Given the description of an element on the screen output the (x, y) to click on. 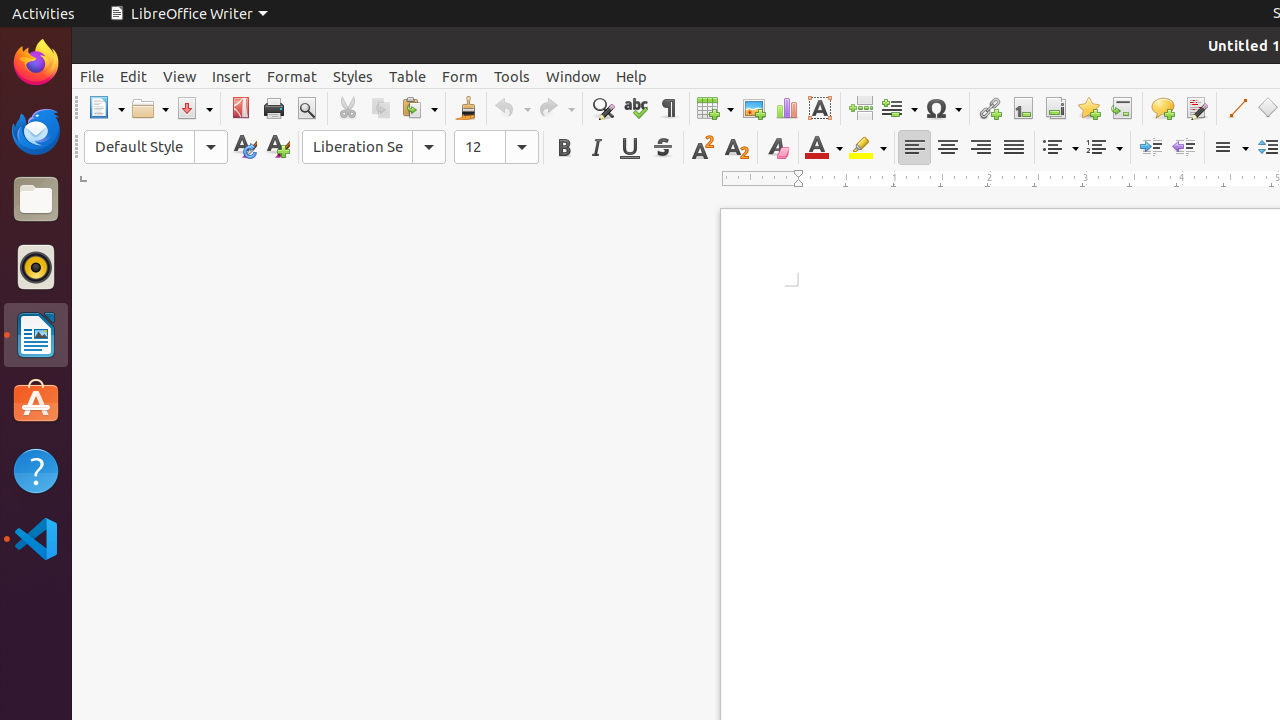
Page Break Element type: push-button (860, 108)
Find & Replace Element type: toggle-button (602, 108)
Rhythmbox Element type: push-button (36, 267)
Image Element type: push-button (753, 108)
Save Element type: push-button (194, 108)
